Given the description of an element on the screen output the (x, y) to click on. 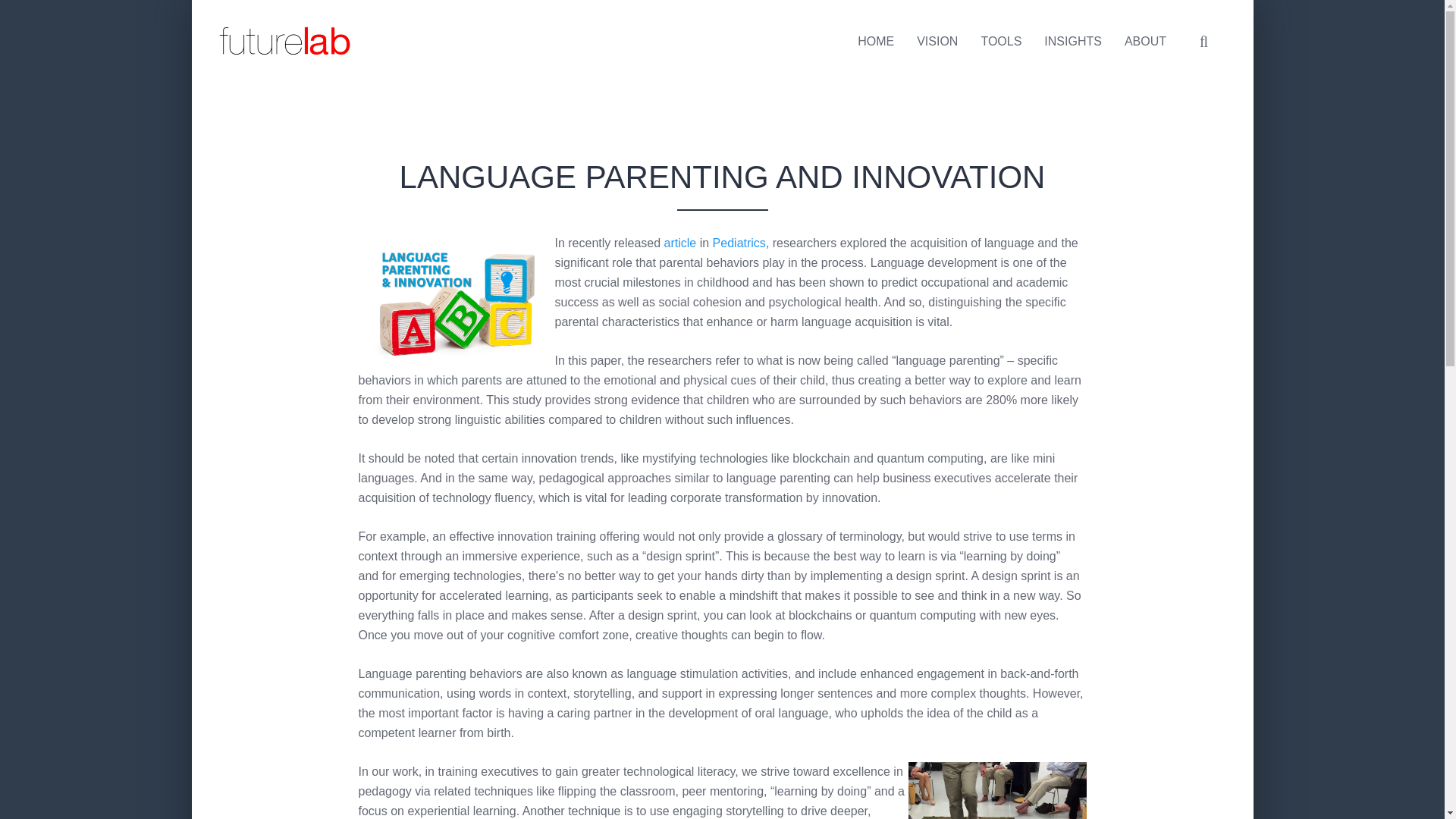
INSIGHTS (1072, 41)
HOME (875, 41)
VISION (937, 41)
article (680, 242)
Pediatrics (739, 242)
TOOLS (1000, 41)
ABOUT (1145, 41)
